Given the description of an element on the screen output the (x, y) to click on. 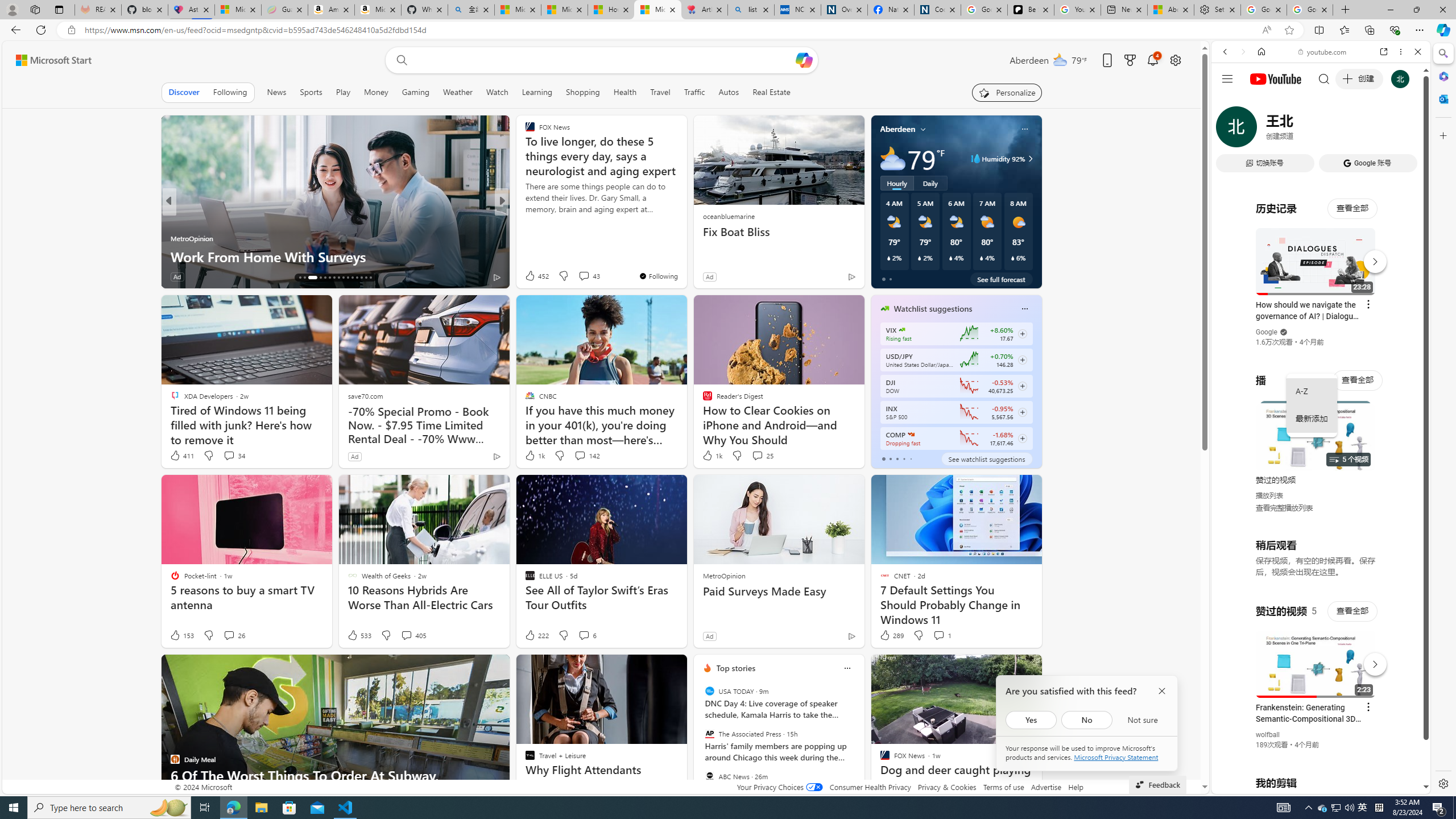
533 Like (358, 634)
tab-3 (903, 458)
Gaming (415, 92)
Money (376, 92)
View comments 6 Comment (583, 635)
View comments 3 Comment (575, 276)
A-Z (1311, 391)
My location (922, 128)
14 Things To Avoid Ordering At Wendy's And Why (335, 256)
5 Ways To Use Your TV's USB Ports (684, 256)
AutomationID: tab-23 (338, 277)
CBOE Market Volatility Index (901, 329)
list of asthma inhalers uk - Search (750, 9)
